Given the description of an element on the screen output the (x, y) to click on. 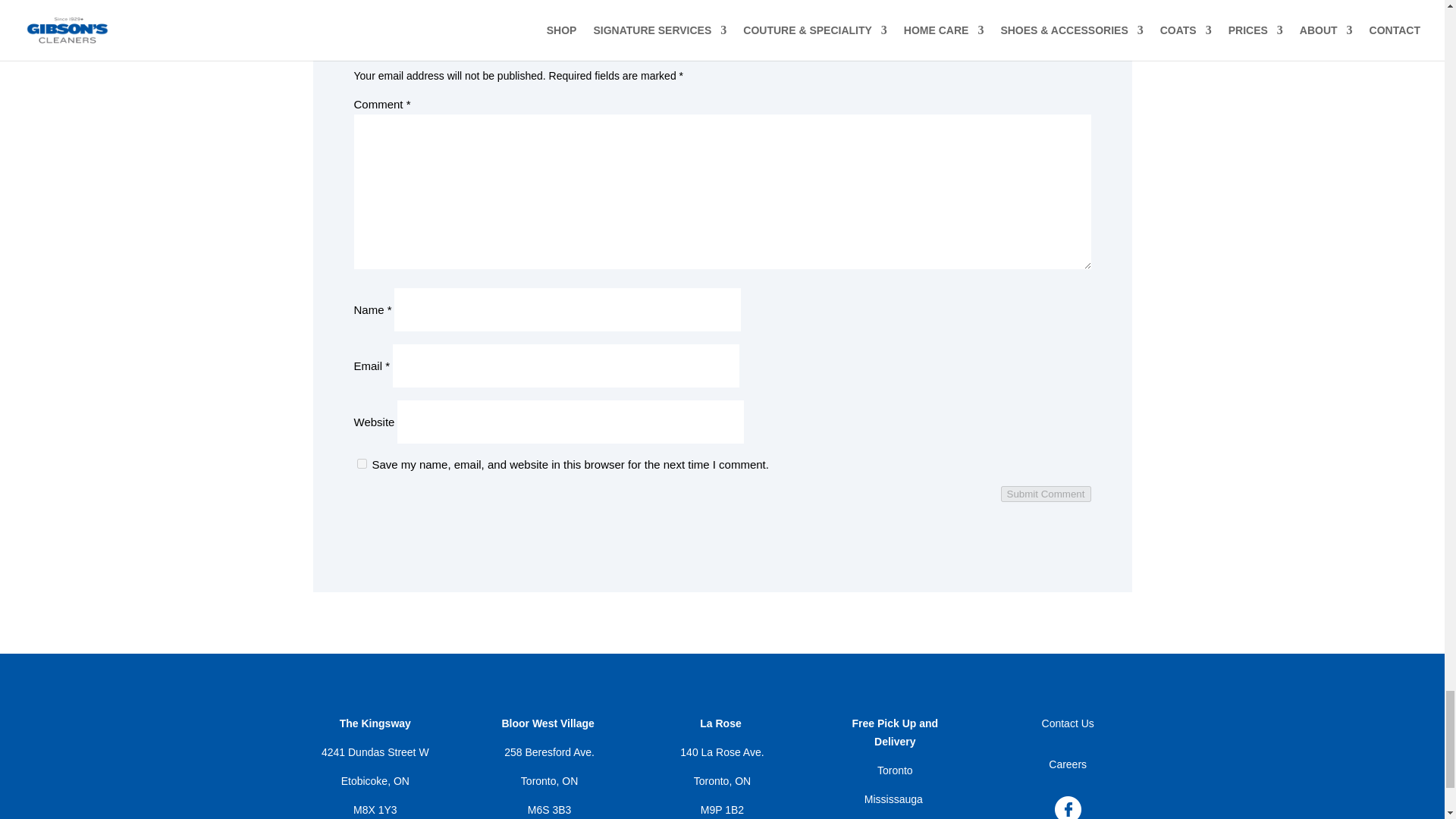
facebook-icon (1067, 807)
yes (361, 463)
